Given the description of an element on the screen output the (x, y) to click on. 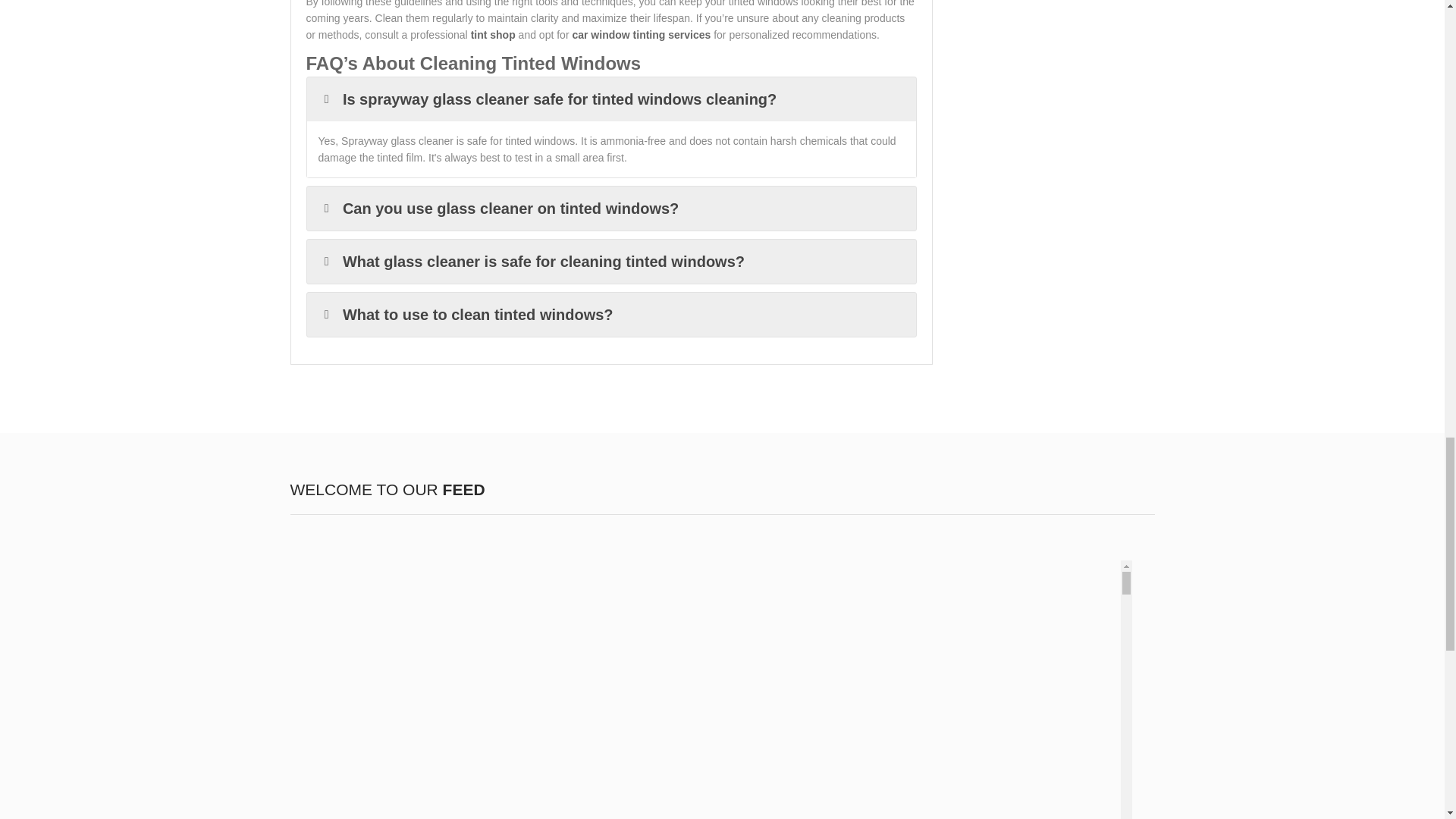
Is sprayway glass cleaner safe for tinted windows cleaning? (610, 98)
tint shop (492, 34)
What glass cleaner is safe for cleaning tinted windows? (610, 261)
car window tinting services (641, 34)
What to use to clean tinted windows? (610, 314)
Can you use glass cleaner on tinted windows? (610, 208)
